Given the description of an element on the screen output the (x, y) to click on. 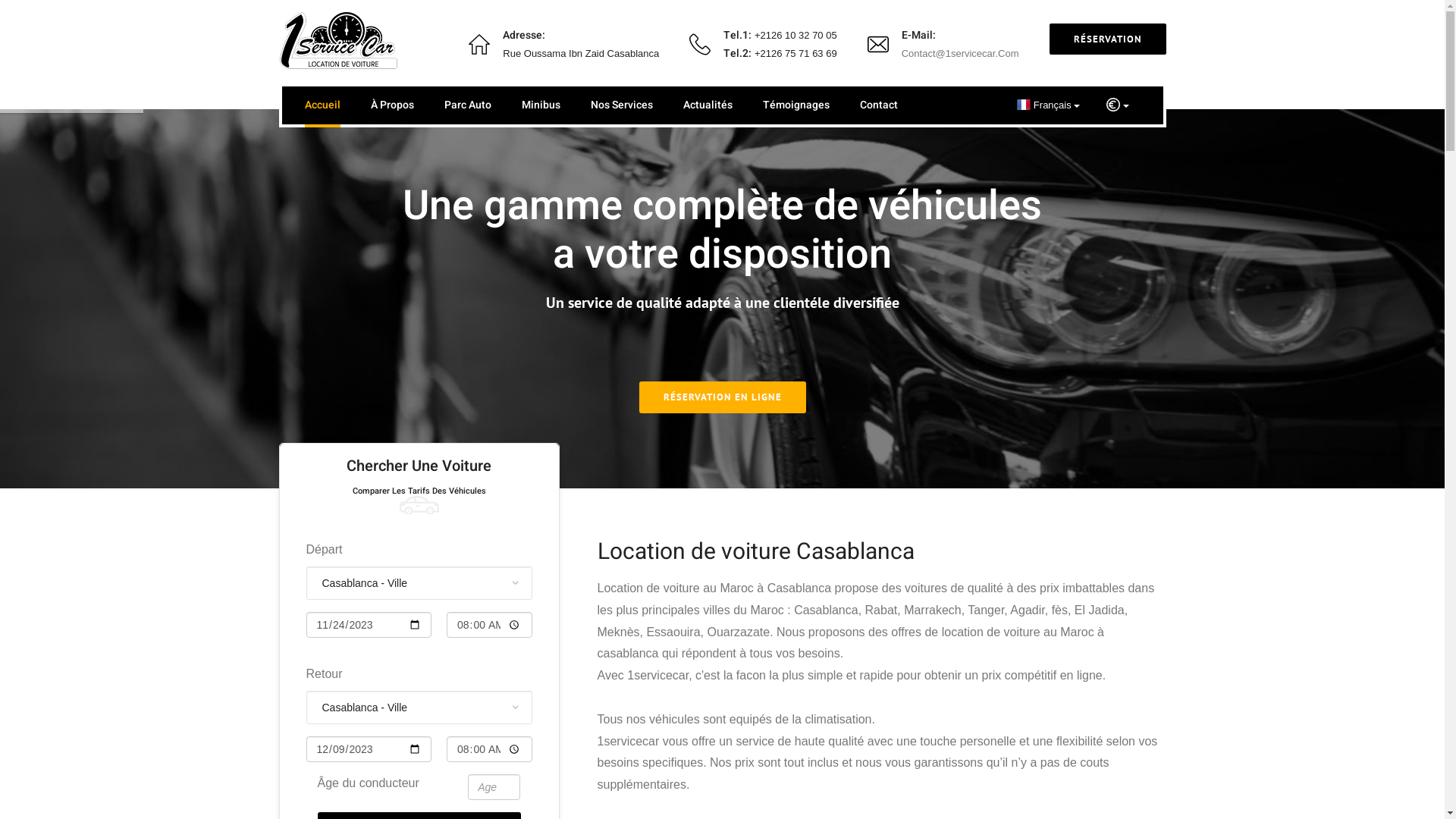
1ServiceCar Element type: hover (339, 41)
Minibus Element type: text (540, 105)
Accueil Element type: text (322, 105)
Contact Element type: text (878, 105)
Contact@1servicecar.Com Element type: text (960, 53)
Parc Auto Element type: text (467, 105)
EUR Element type: hover (1117, 105)
Nos Services Element type: text (620, 105)
